Given the description of an element on the screen output the (x, y) to click on. 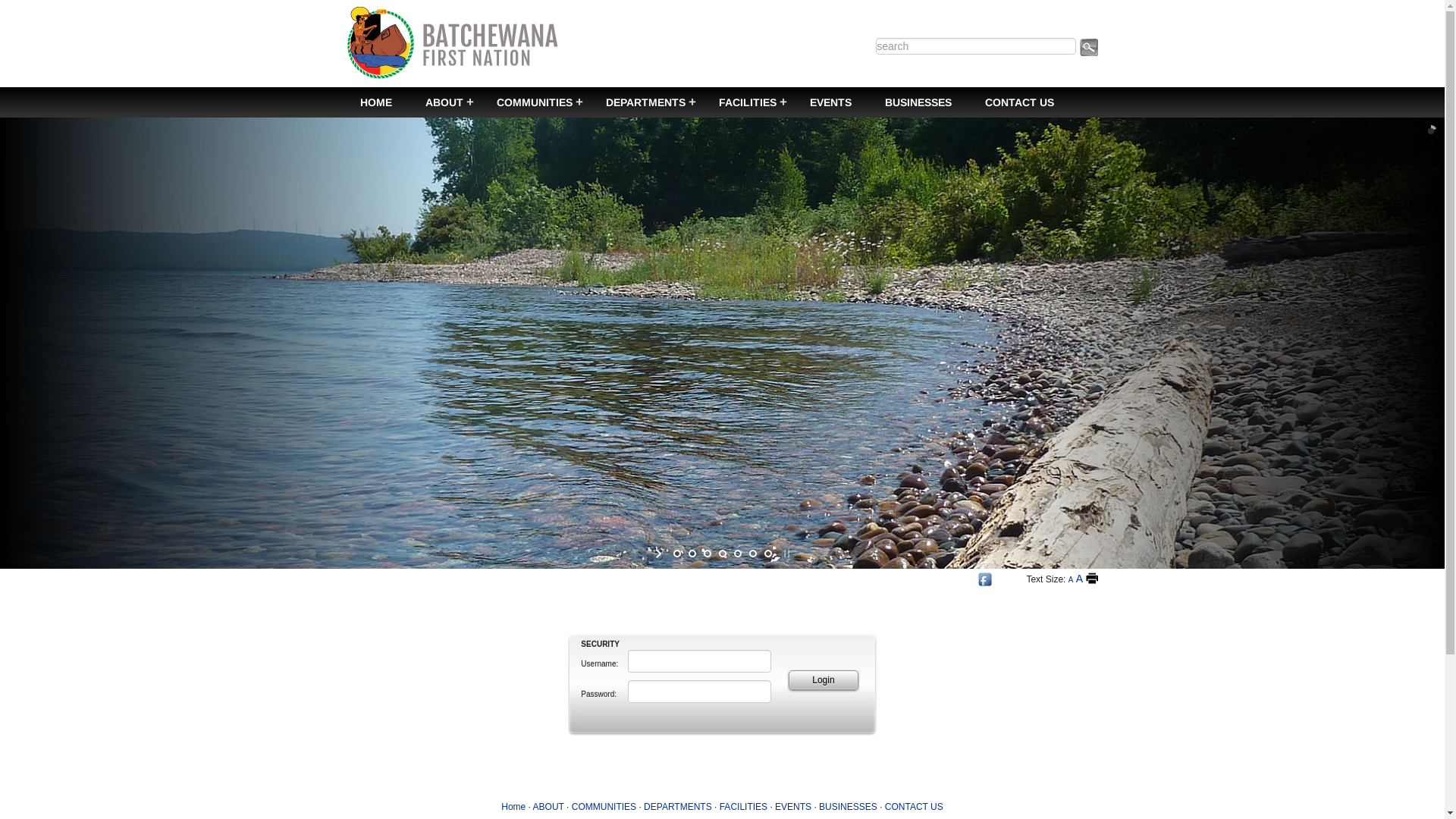
ABOUT Element type: text (443, 102)
CONTACT US Element type: text (913, 806)
Login Element type: text (822, 680)
A Element type: text (1070, 579)
BUSINESSES Element type: text (917, 102)
Home Element type: text (513, 806)
Facebook Element type: hover (984, 579)
ABOUT Element type: text (548, 806)
Print This Page Element type: hover (1091, 578)
COMMUNITIES Element type: text (533, 102)
CONTACT US Element type: text (1018, 102)
BUSINESSES Element type: text (848, 806)
DEPARTMENTS Element type: text (677, 806)
FACILITIES Element type: text (743, 806)
COMMUNITIES Element type: text (603, 806)
EVENTS Element type: text (793, 806)
FACILITIES Element type: text (747, 102)
HOME Element type: text (374, 102)
DEPARTMENTS Element type: text (644, 102)
A Element type: text (1079, 579)
EVENTS Element type: text (830, 102)
